Given the description of an element on the screen output the (x, y) to click on. 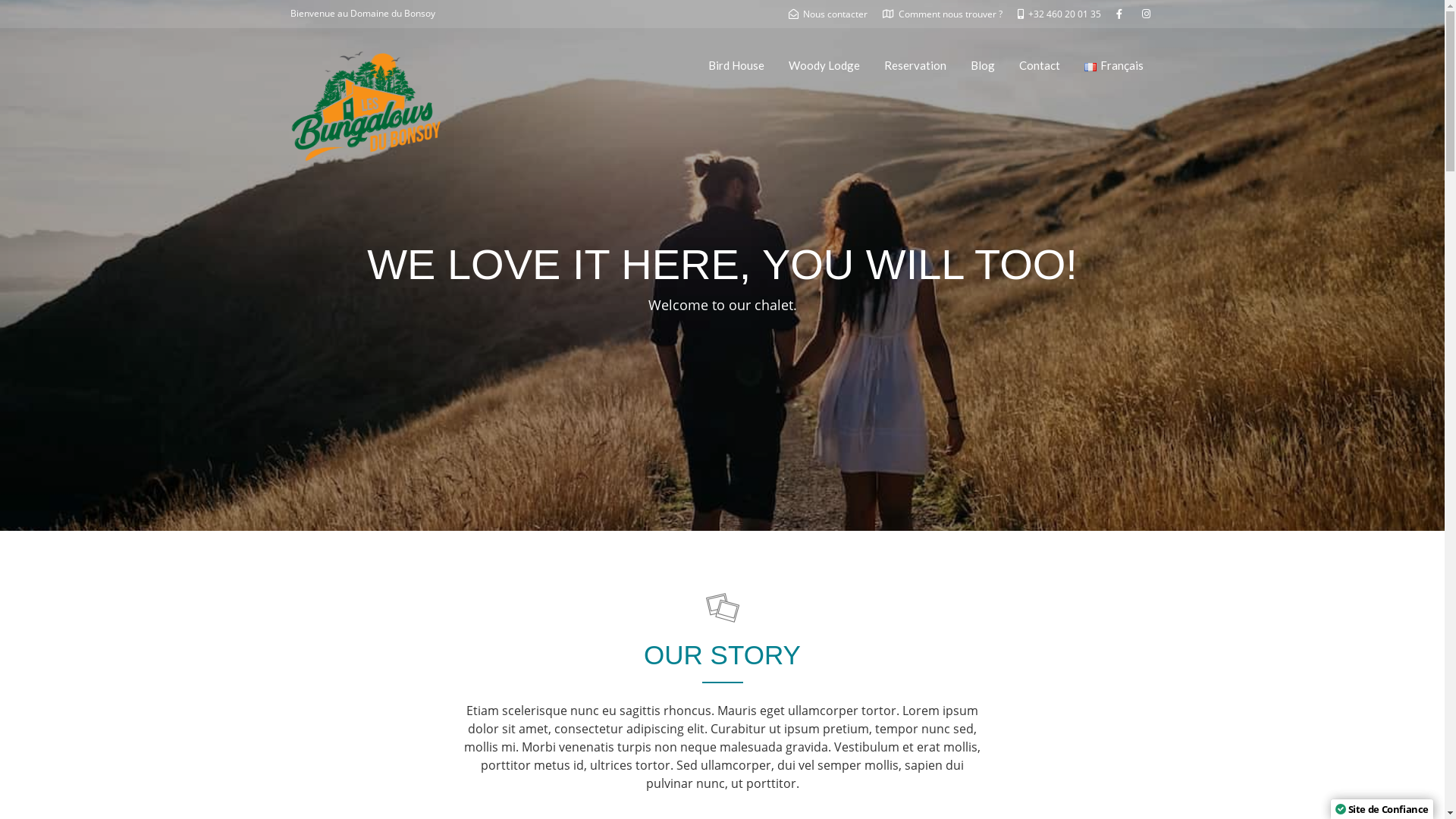
Reservation Element type: text (915, 65)
Blog Element type: text (982, 65)
Comment nous trouver ? Element type: text (942, 13)
Bird House Element type: text (736, 65)
+32 460 20 01 35 Element type: text (1059, 13)
Woody Lodge Element type: text (823, 65)
Nous contacter Element type: text (827, 13)
Contact Element type: text (1039, 65)
